Given the description of an element on the screen output the (x, y) to click on. 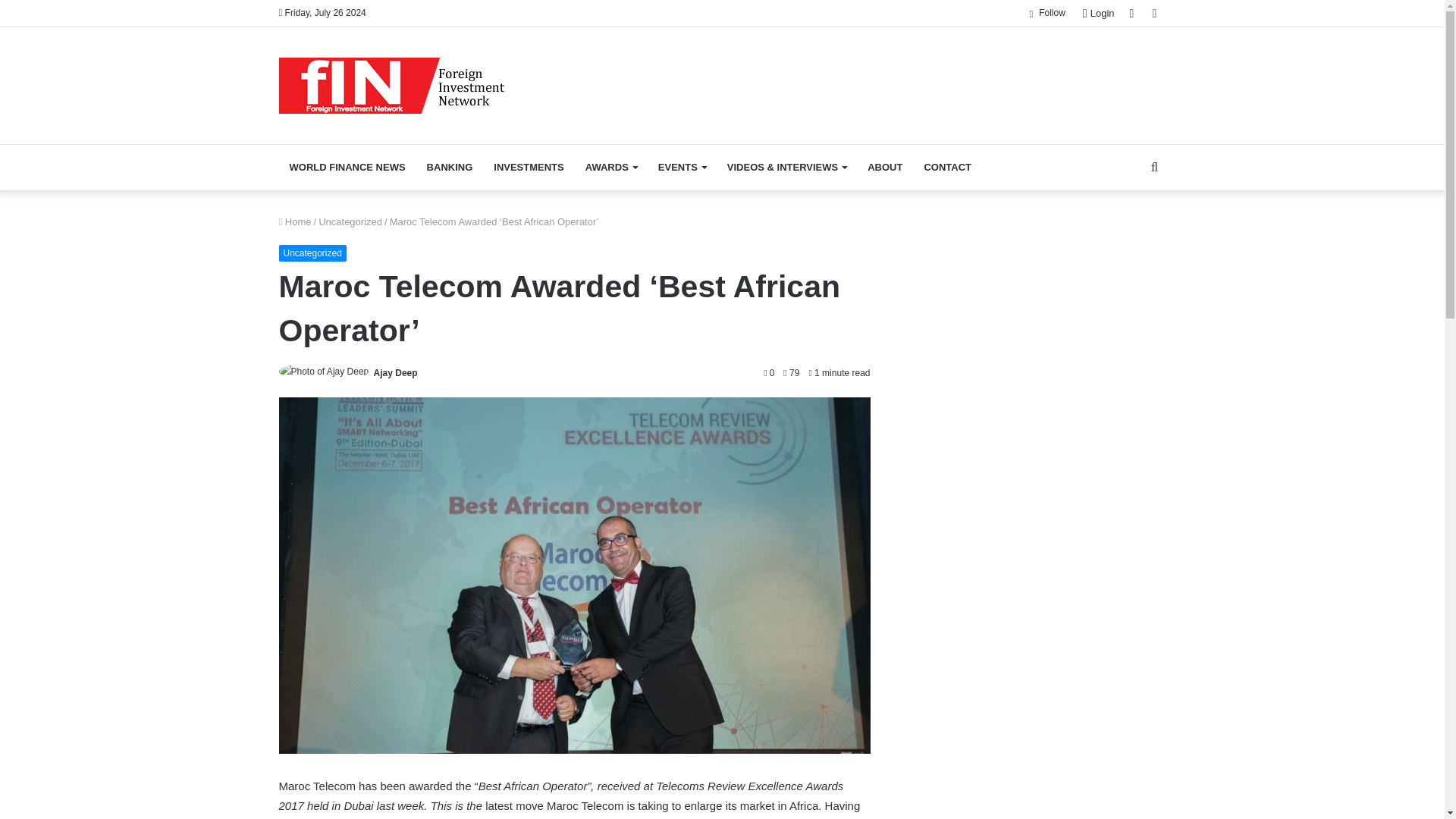
INVESTMENTS (528, 167)
Follow (1046, 13)
EVENTS (681, 167)
Foreign Investment Network (392, 85)
Home (295, 221)
ABOUT (884, 167)
WORLD FINANCE NEWS (347, 167)
Uncategorized (349, 221)
Uncategorized (312, 252)
CONTACT (946, 167)
Ajay Deep (395, 372)
AWARDS (611, 167)
BANKING (449, 167)
Ajay Deep (395, 372)
